Given the description of an element on the screen output the (x, y) to click on. 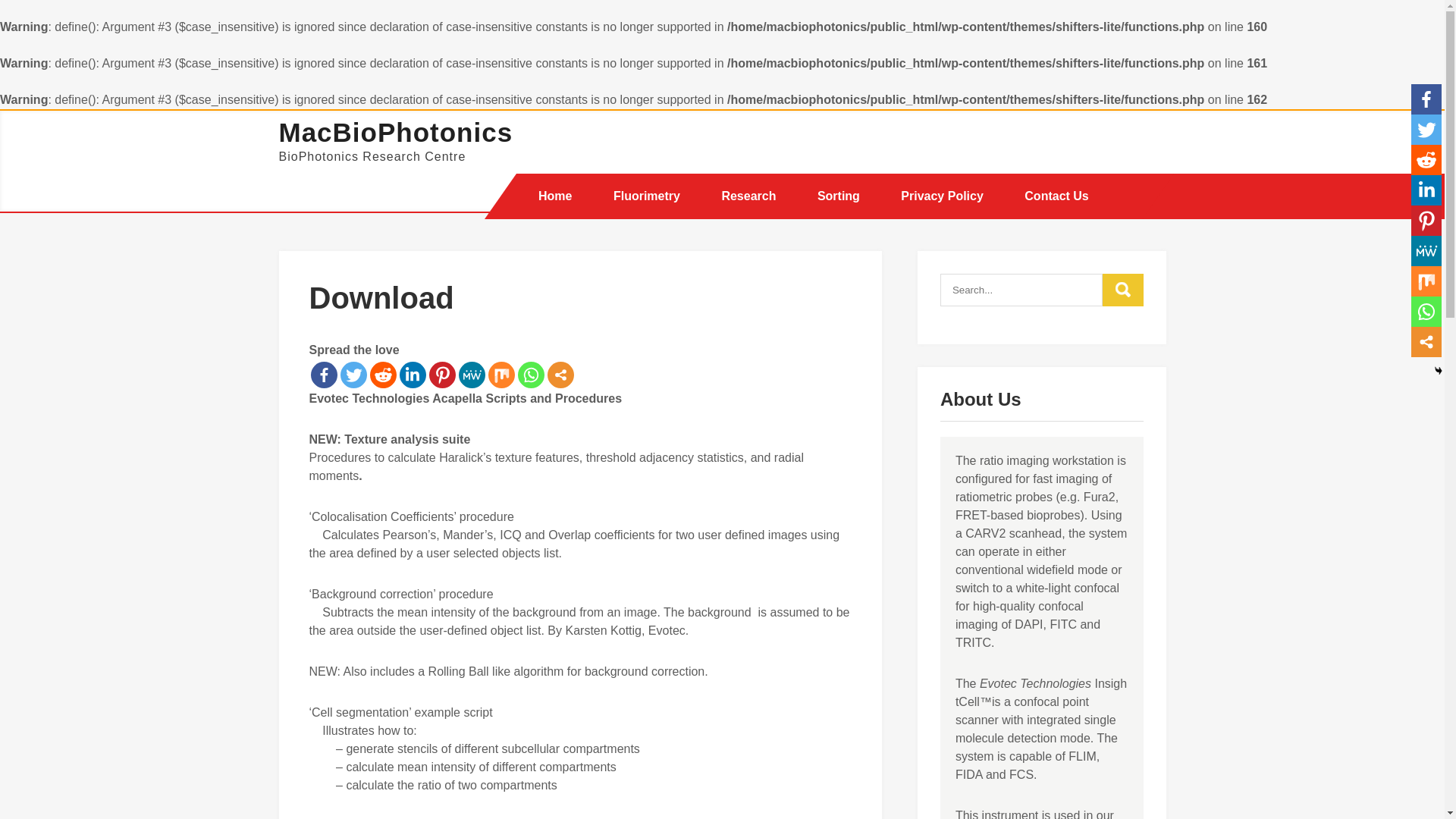
Pinterest (442, 374)
MeWe (471, 374)
Home (555, 195)
Pinterest (1425, 220)
Twitter (1425, 129)
Twitter (352, 374)
Privacy Policy (942, 195)
Mix (501, 374)
More (560, 374)
Linkedin (411, 374)
Facebook (324, 374)
Sorting (838, 195)
MacBioPhotonics (396, 132)
Research (747, 195)
Search (1122, 288)
